Given the description of an element on the screen output the (x, y) to click on. 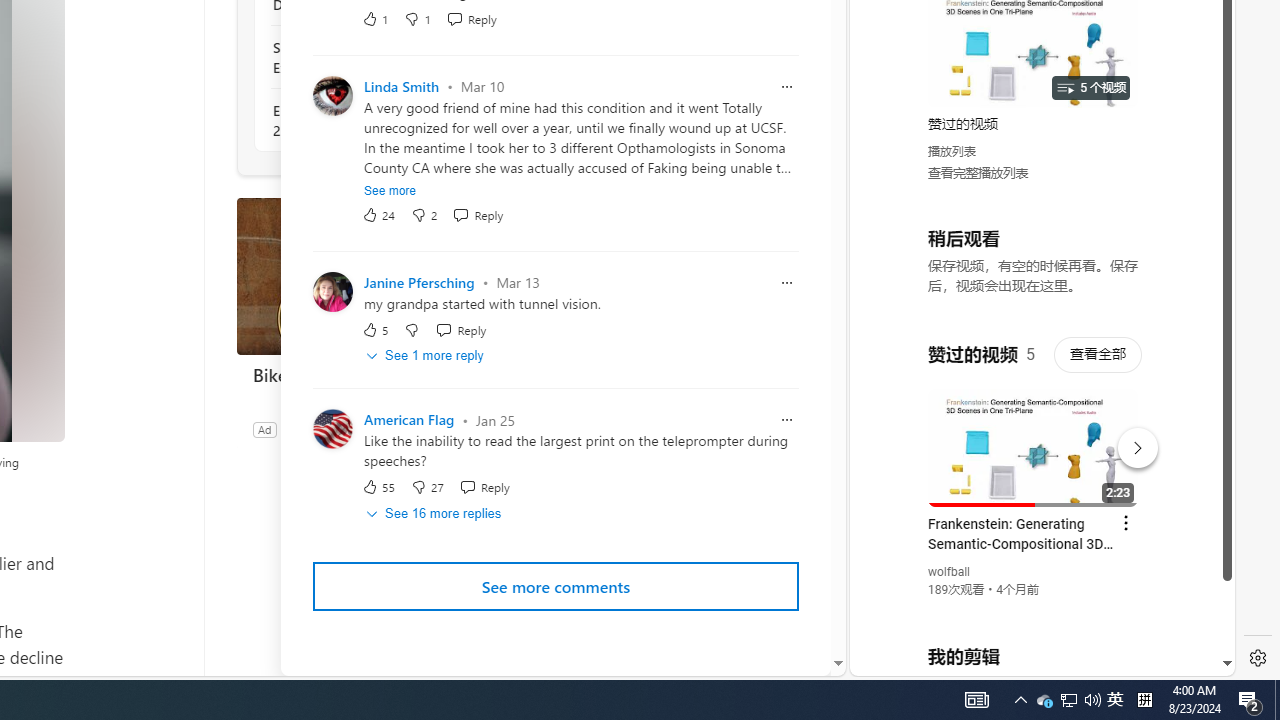
Linda Smith (401, 86)
Bike Gurus (386, 276)
Class: dict_pnIcon rms_img (1028, 660)
See 1 more reply (425, 356)
you (1034, 609)
Sky Blue Bikes (319, 429)
Profile Picture (333, 429)
US[ju] (917, 660)
Janine Pfersching (418, 282)
